Given the description of an element on the screen output the (x, y) to click on. 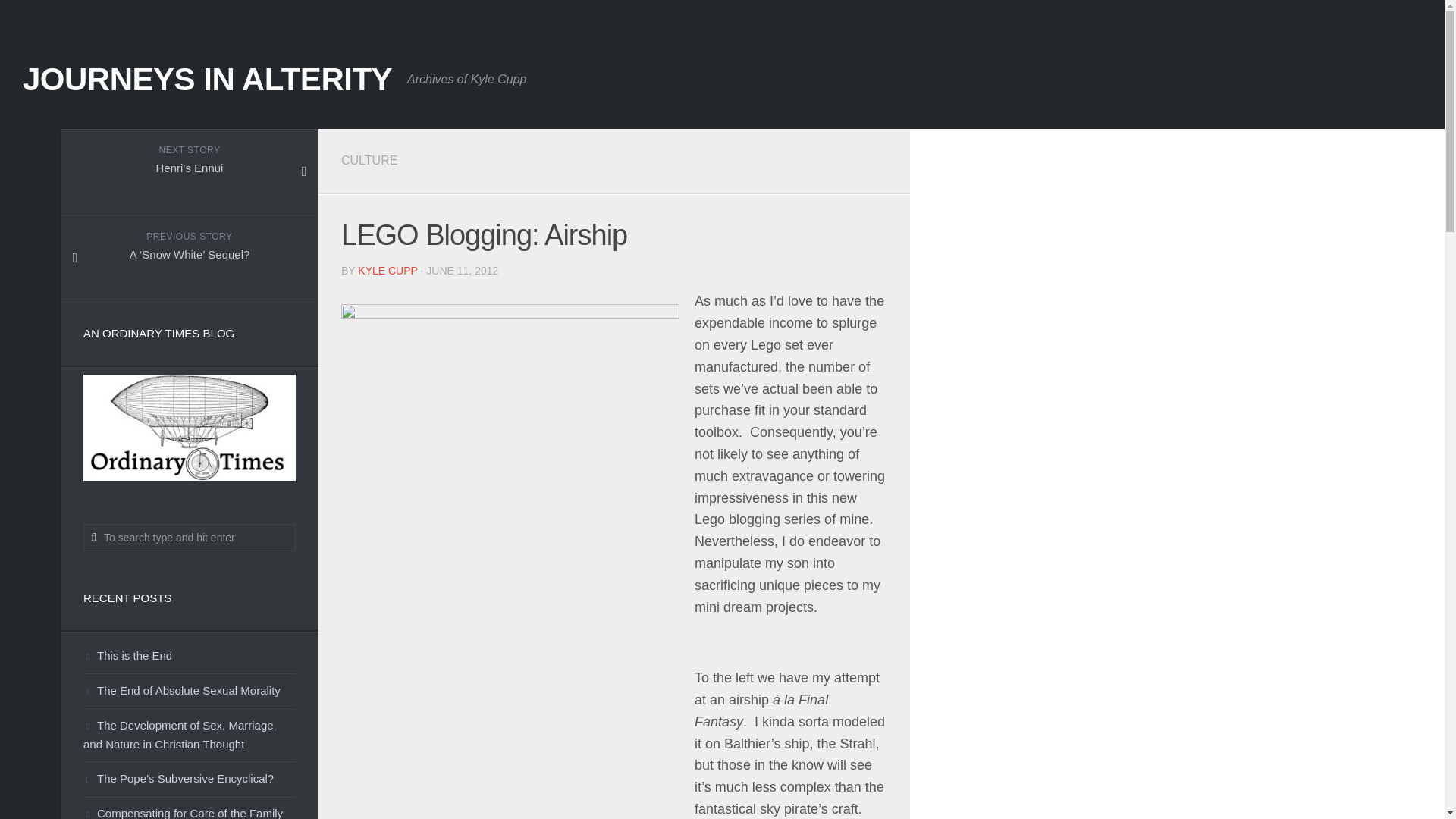
This is the End (126, 655)
CULTURE (368, 160)
KYLE CUPP (387, 270)
The End of Absolute Sexual Morality (181, 689)
To search type and hit enter (188, 537)
Compensating for Care of the Family (182, 812)
JOURNEYS IN ALTERITY (207, 79)
To search type and hit enter (188, 537)
Posts by Kyle Cupp (387, 270)
